Given the description of an element on the screen output the (x, y) to click on. 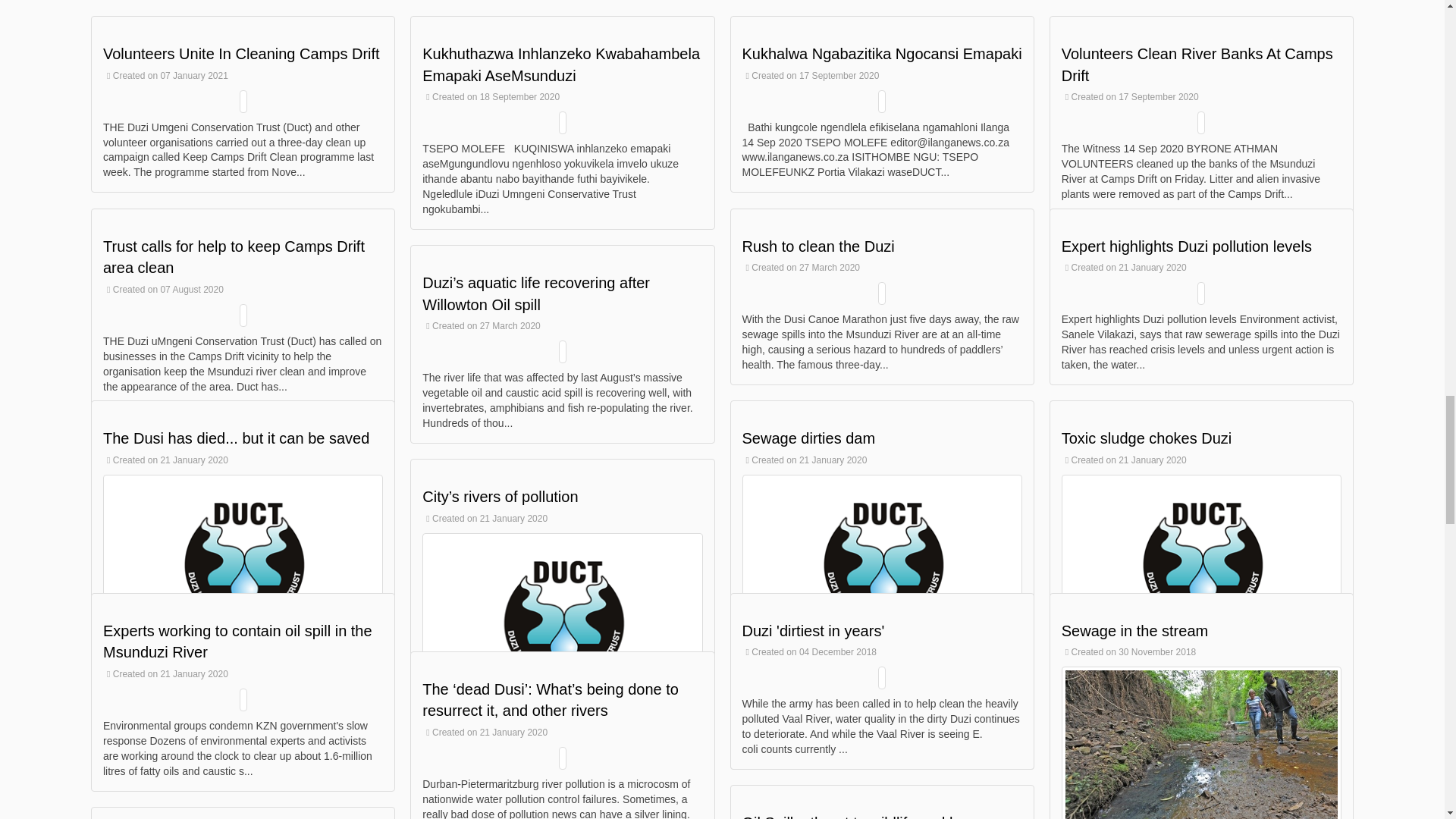
Rush to clean the Duzi (817, 246)
Experts working to contain oil spill in the Msunduzi River (237, 641)
Sewage dirties dam (808, 437)
Kukhalwa Ngabazitika Ngocansi Emapaki (881, 53)
Volunteers Unite In Cleaning Camps Drift (241, 53)
Toxic sludge chokes Duzi (1146, 437)
Trust calls for help to keep Camps Drift area clean (234, 257)
Expert highlights Duzi pollution levels (1186, 246)
Volunteers Clean River Banks At Camps Drift (1197, 64)
The Dusi has died... but it can be saved (236, 437)
